Given the description of an element on the screen output the (x, y) to click on. 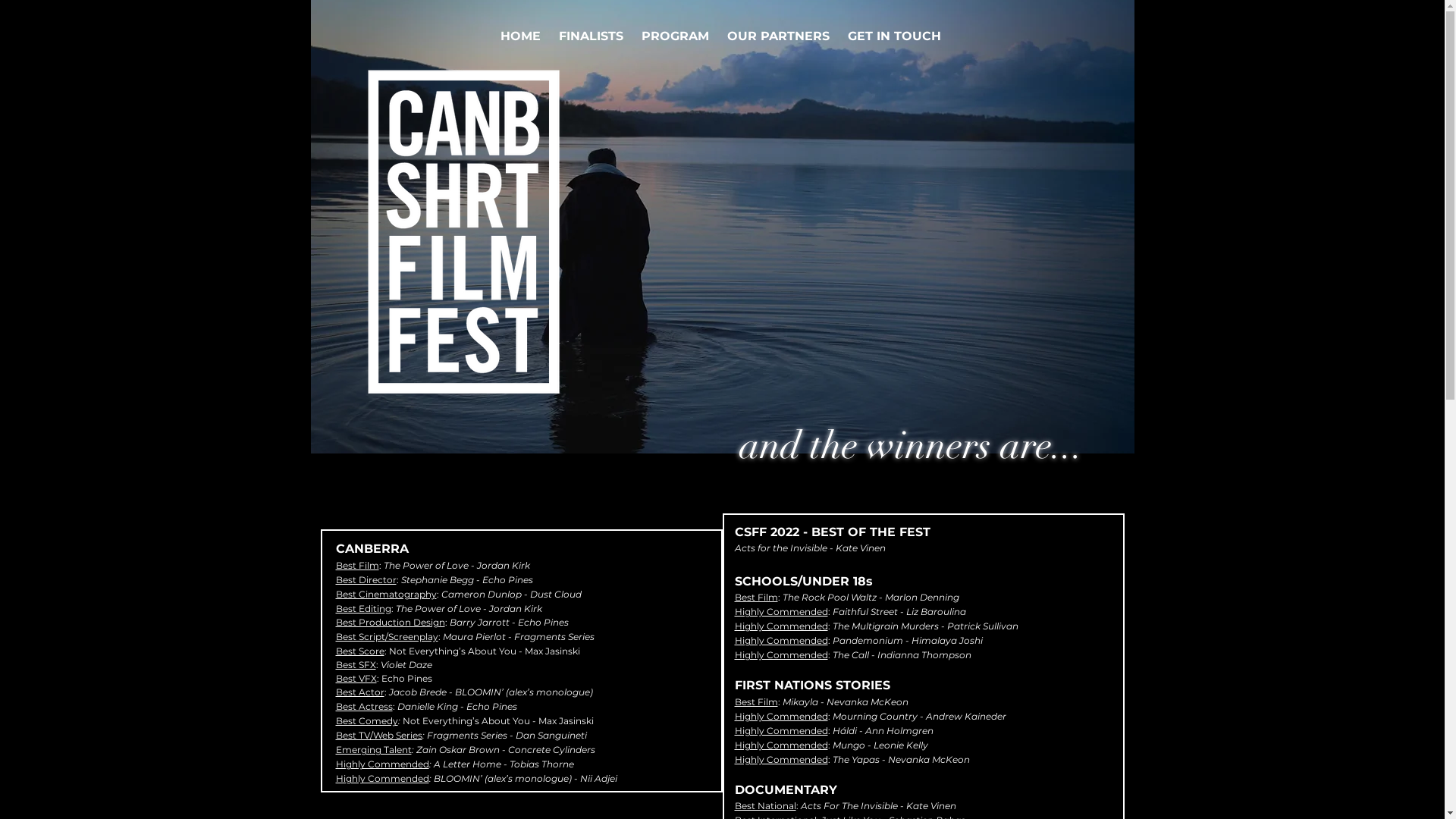
PROGRAM Element type: text (675, 36)
OUR PARTNERS Element type: text (778, 36)
HOME Element type: text (520, 36)
GET IN TOUCH Element type: text (894, 36)
FINALISTS Element type: text (590, 36)
